Given the description of an element on the screen output the (x, y) to click on. 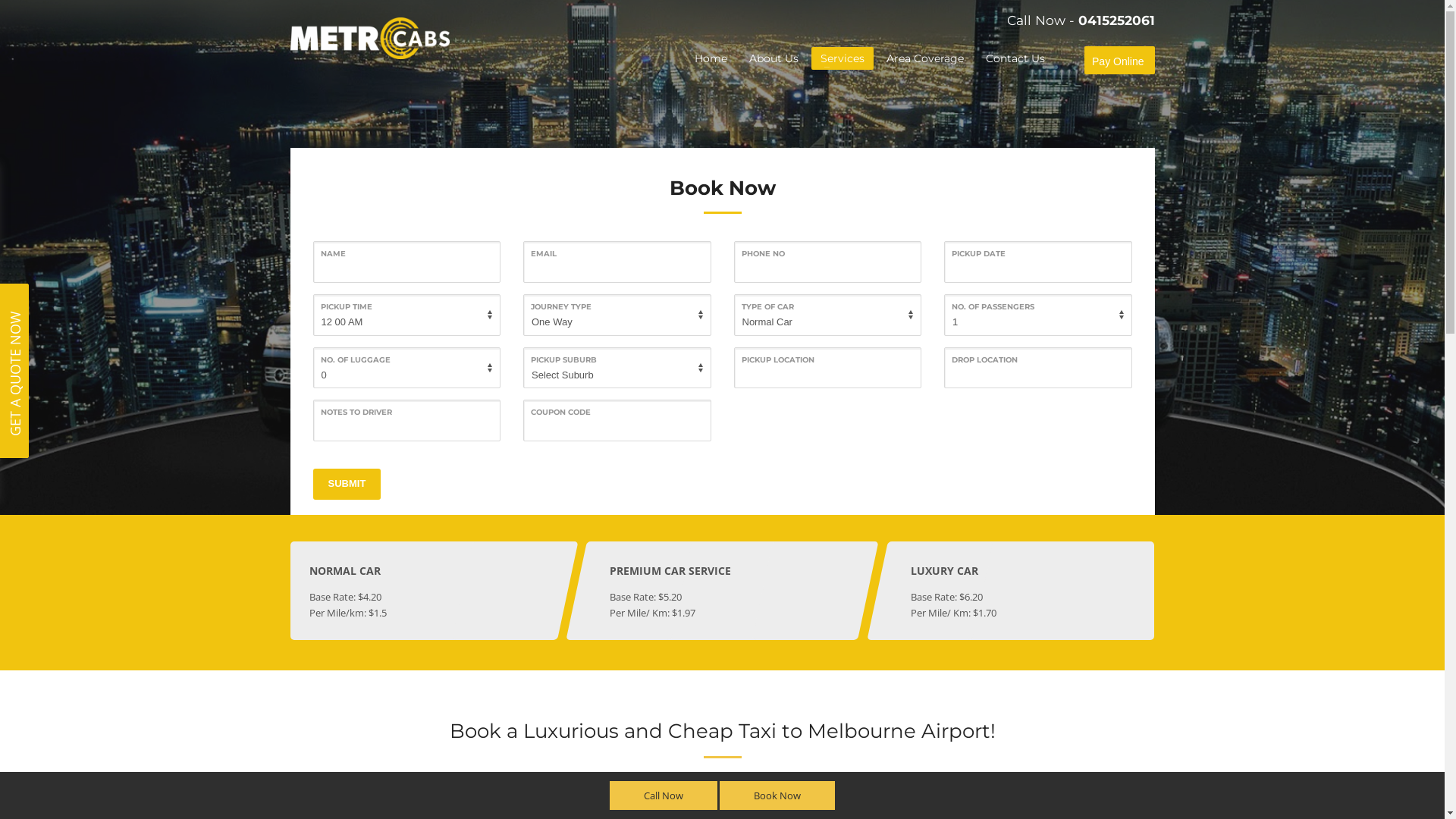
Book Now Element type: text (776, 795)
Pay Online Element type: text (1117, 61)
SUBMIT Element type: text (346, 483)
Services Element type: text (842, 58)
Call Now Element type: text (663, 795)
0415252061 Element type: text (1116, 20)
Contact Us Element type: text (1015, 58)
Home Element type: text (710, 58)
Area Coverage Element type: text (924, 58)
About Us Element type: text (773, 58)
